Given the description of an element on the screen output the (x, y) to click on. 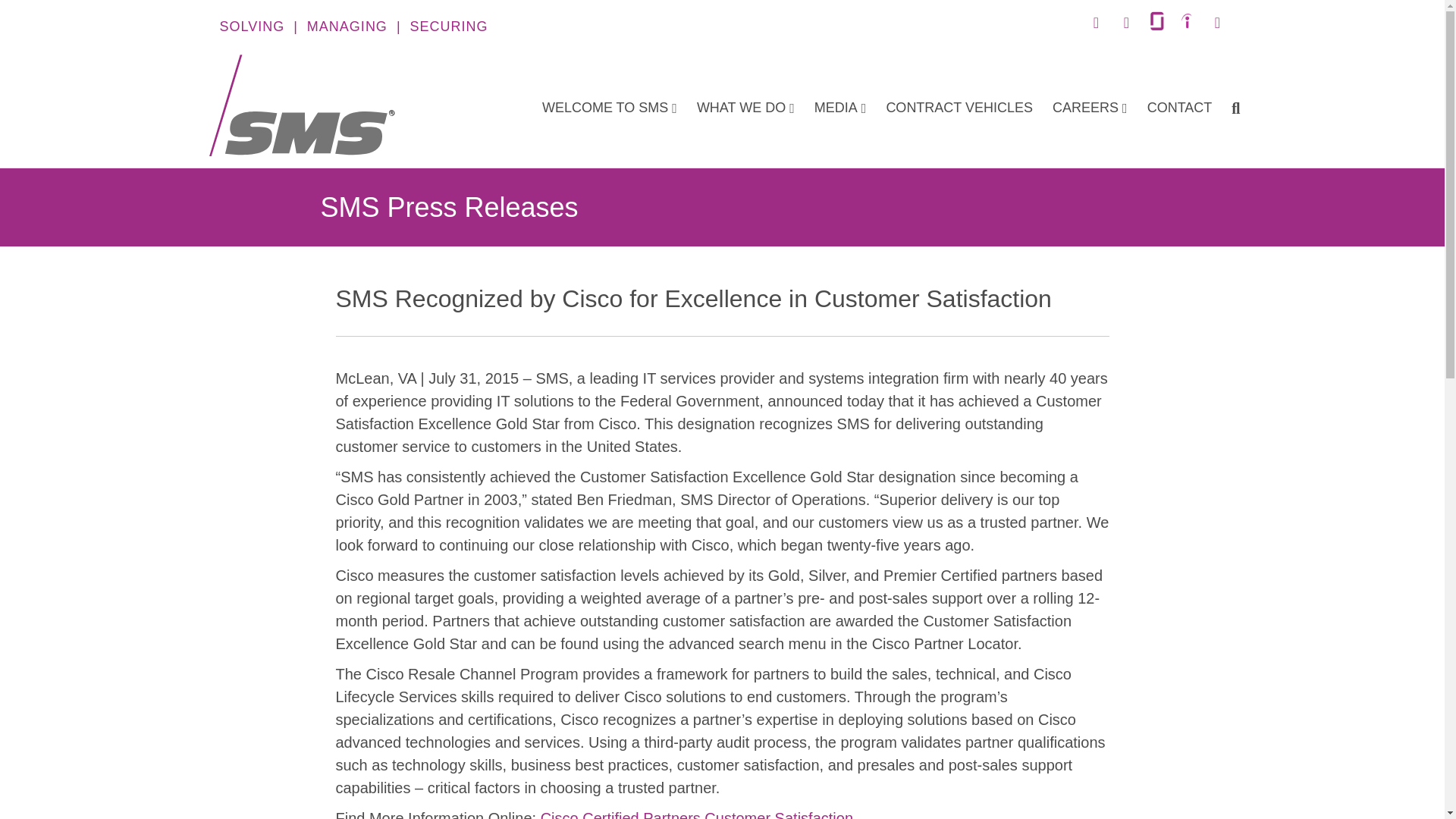
WELCOME TO SMS (609, 107)
WHAT WE DO (746, 107)
Cisco Certified Partners Customer Satisfaction (696, 814)
CAREERS (1089, 107)
CONTRACT VEHICLES (959, 107)
CONTACT (1180, 107)
MEDIA (840, 107)
